Given the description of an element on the screen output the (x, y) to click on. 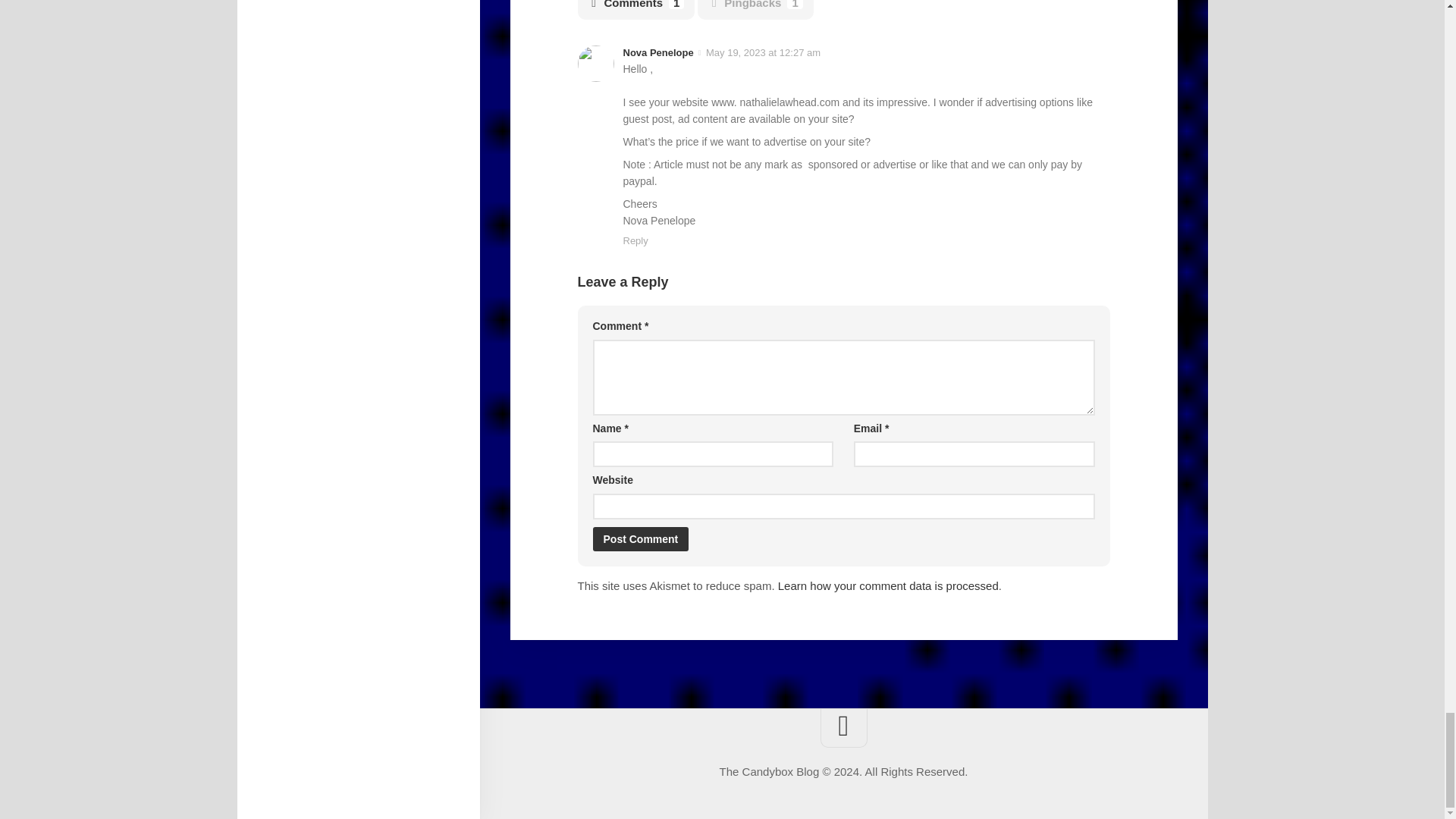
Post Comment (640, 539)
